Given the description of an element on the screen output the (x, y) to click on. 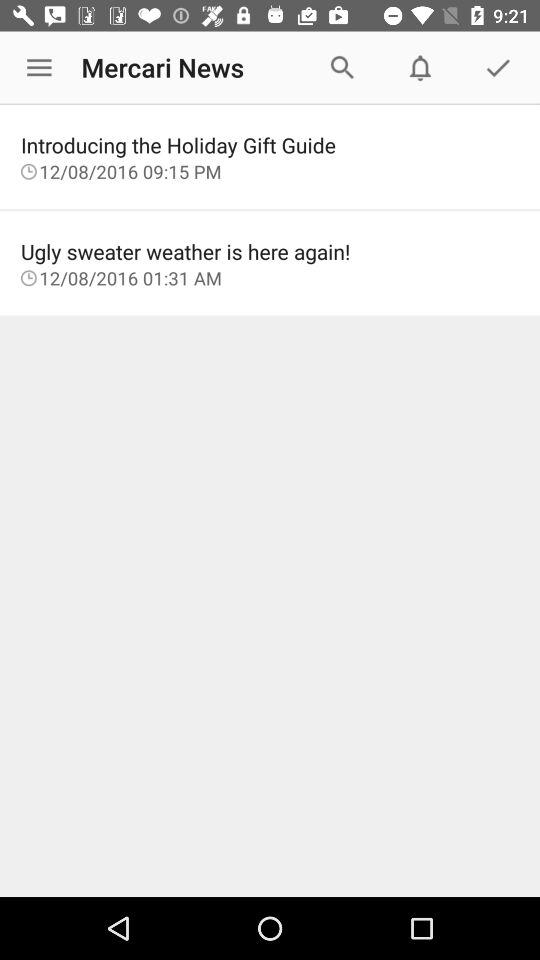
tap ugly sweater weather item (270, 251)
